Given the description of an element on the screen output the (x, y) to click on. 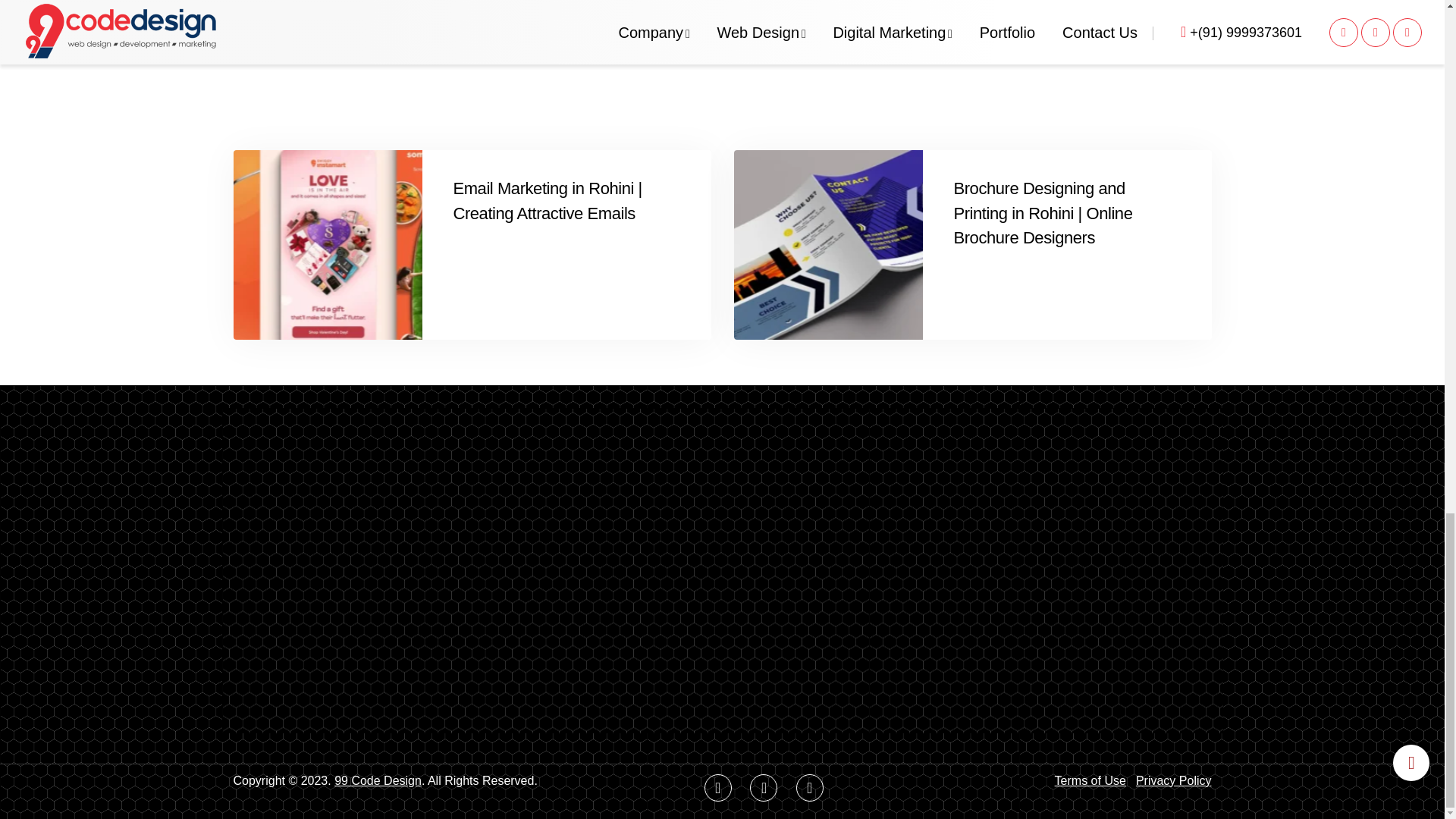
Instagram (810, 787)
Scroll to top (1411, 762)
Twitter (763, 787)
Facebook (718, 787)
